Given the description of an element on the screen output the (x, y) to click on. 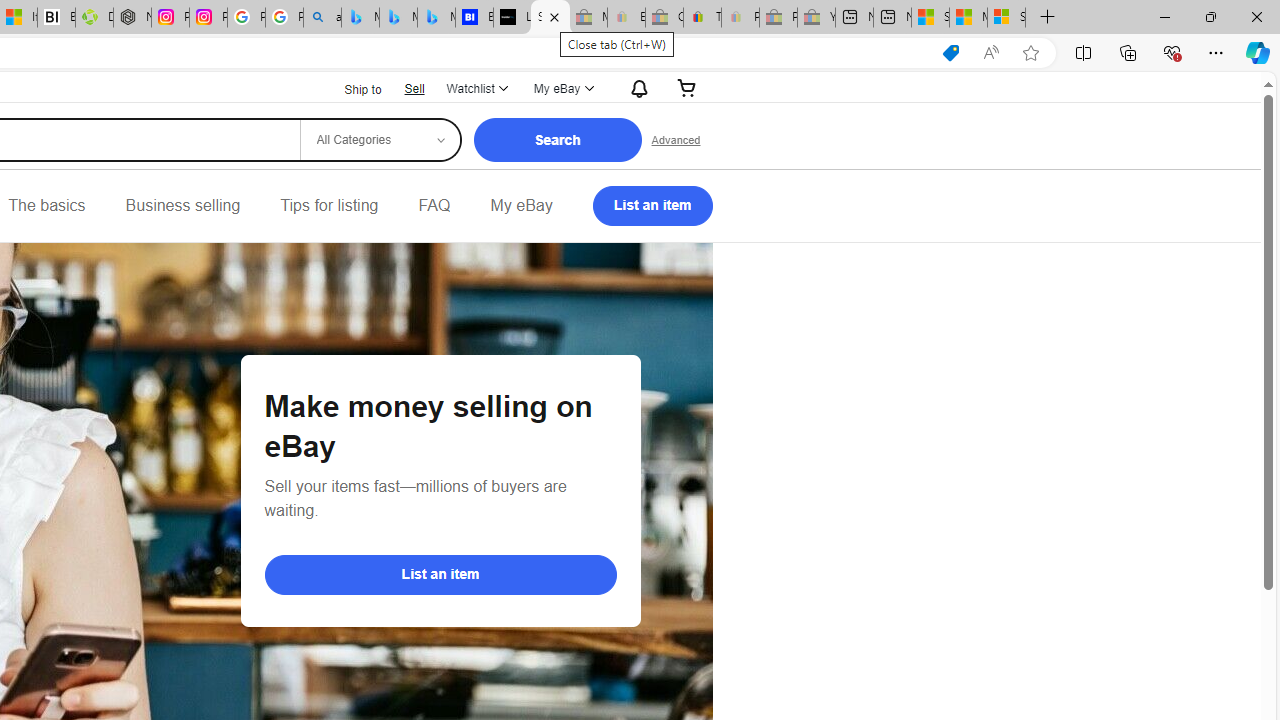
FAQ (434, 205)
Microsoft Bing Travel - Flights from Hong Kong to Bangkok (359, 17)
Tips for listing (329, 205)
List an item (439, 574)
Payments Terms of Use | eBay.com - Sleeping (740, 17)
Threats and offensive language policy | eBay (701, 17)
My eBay (521, 205)
